Given the description of an element on the screen output the (x, y) to click on. 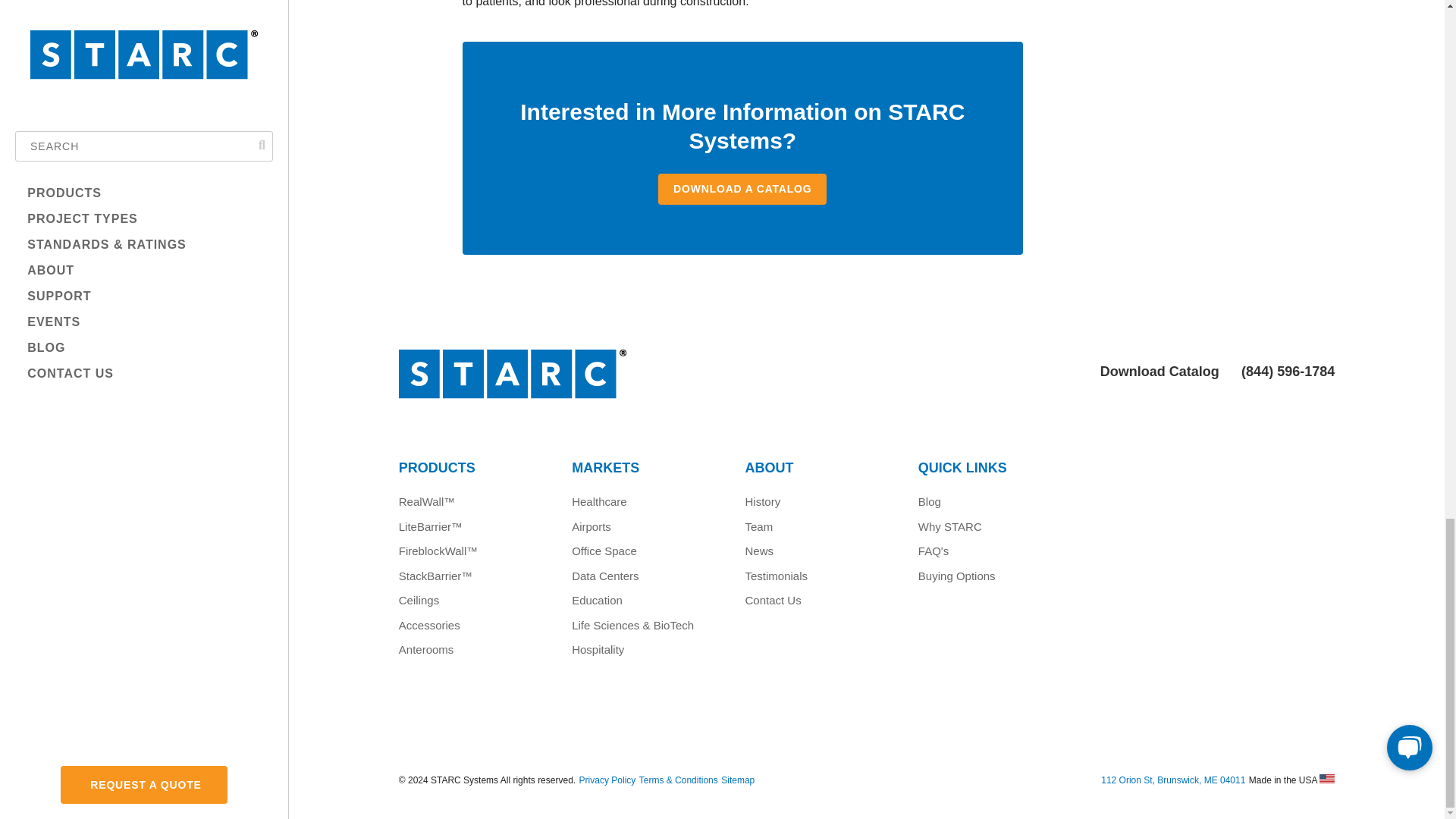
Sitemap (737, 779)
STARC Systems (623, 388)
Privacy Policy (607, 779)
112 Orion St, Brunswick, ME 04011 (1172, 779)
Call STARC Systems (1286, 371)
LinkedIn (869, 746)
